Given the description of an element on the screen output the (x, y) to click on. 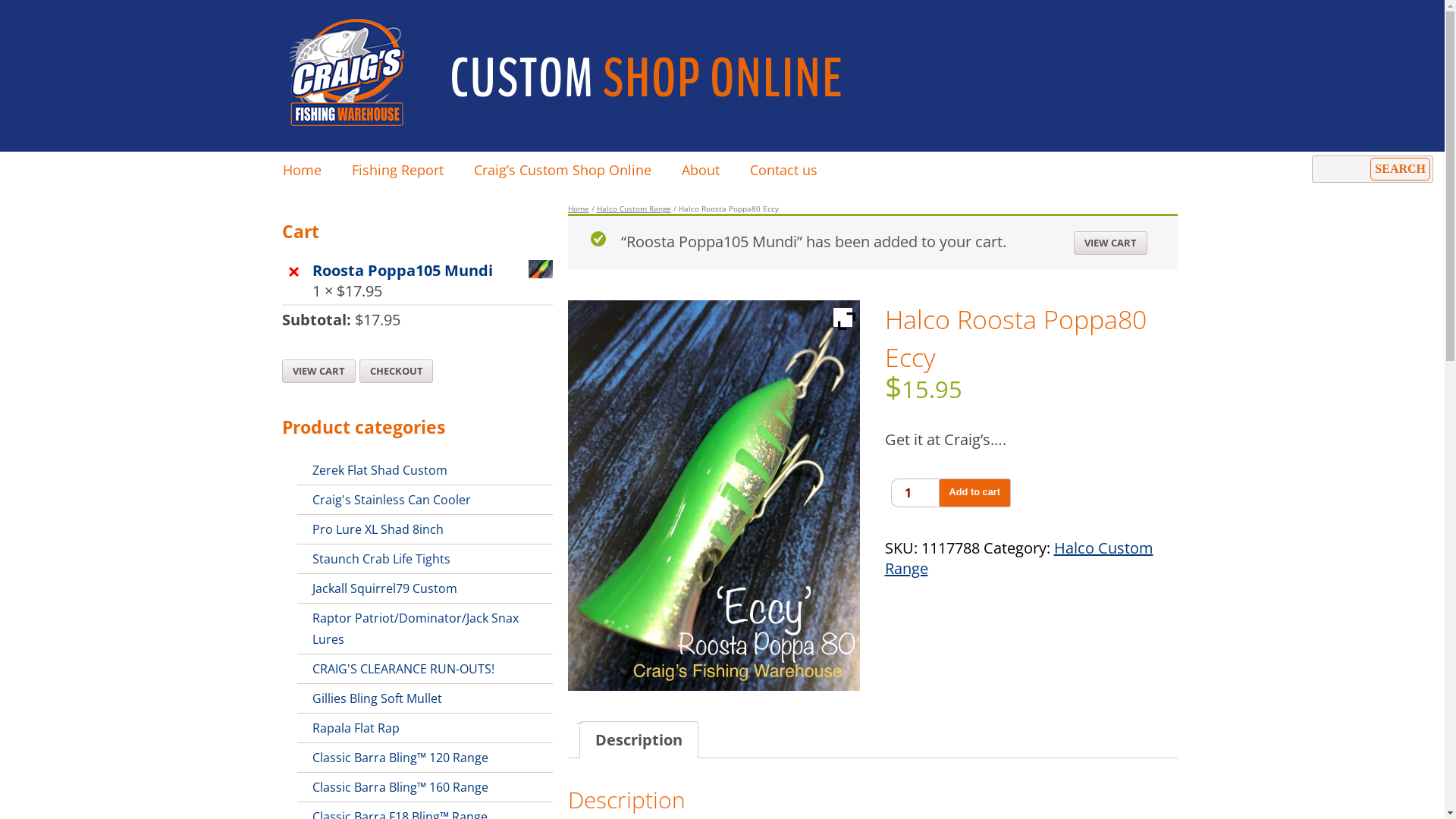
Home Element type: text (577, 208)
Contact us Element type: text (782, 169)
Fishing Report Element type: text (397, 169)
Description Element type: text (637, 739)
VIEW CART Element type: text (318, 370)
Staunch Crab Life Tights Element type: text (424, 559)
Raptor Patriot/Dominator/Jack Snax Lures Element type: text (424, 628)
Add to cart Element type: text (974, 492)
Zerek Flat Shad Custom Element type: text (424, 470)
Gillies Bling Soft Mullet Element type: text (424, 698)
CRAIG'S CLEARANCE RUN-OUTS! Element type: text (424, 669)
About Element type: text (699, 169)
Roosta Poppa105 Mundi Element type: text (432, 270)
Home Element type: text (300, 169)
Search Element type: text (1400, 168)
Halco Custom Range Element type: text (633, 208)
IMG_E6077 Element type: hover (713, 495)
CHECKOUT Element type: text (396, 370)
Craig's Stainless Can Cooler Element type: text (424, 499)
Rapala Flat Rap Element type: text (424, 728)
Jackall Squirrel79 Custom Element type: text (424, 588)
VIEW CART Element type: text (1110, 242)
Halco Custom Range Element type: text (1018, 557)
Pro Lure XL Shad 8inch Element type: text (424, 529)
